Given the description of an element on the screen output the (x, y) to click on. 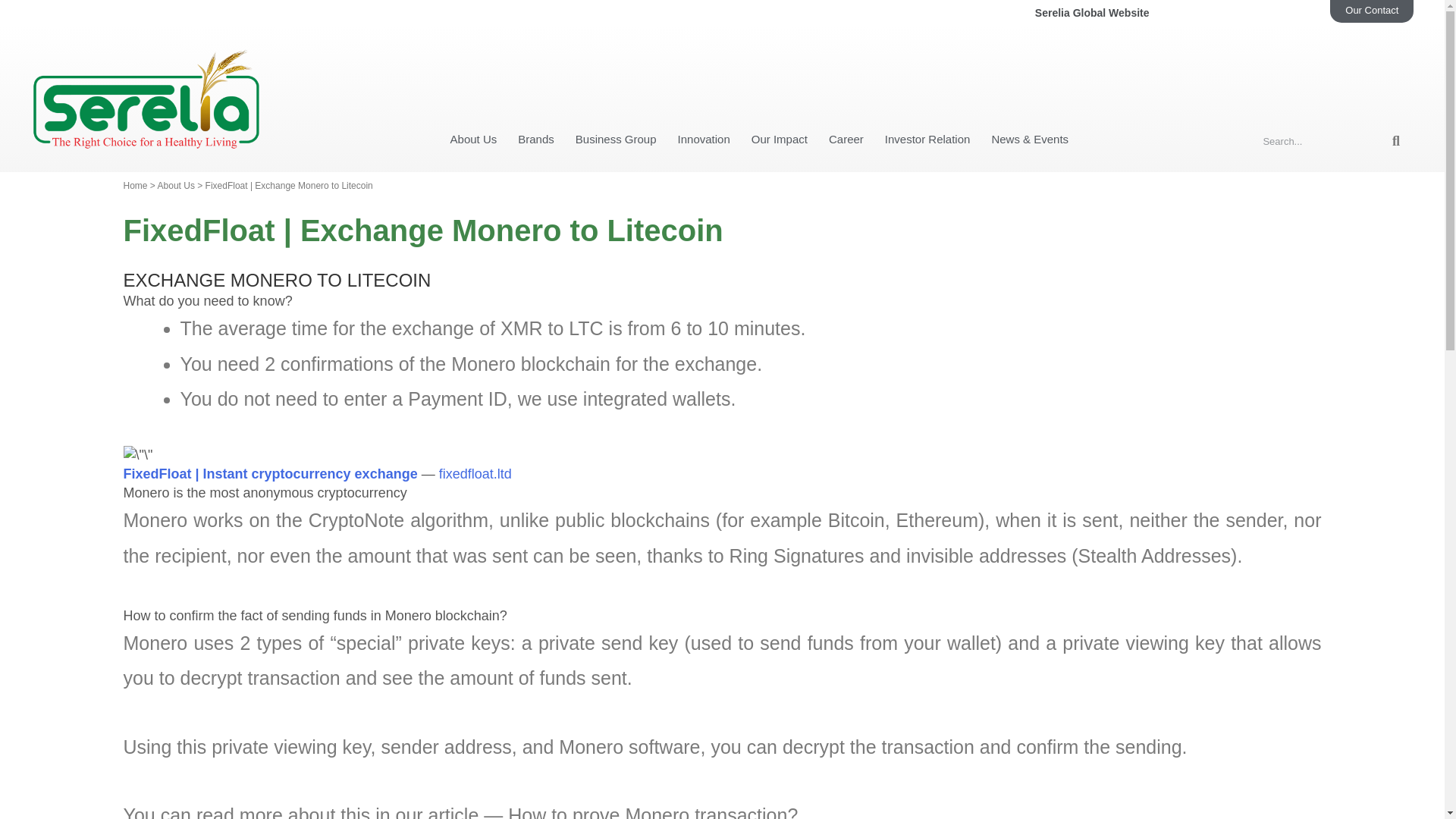
Brands (535, 139)
Search (1322, 140)
Investor Relation (928, 139)
Our Impact (779, 139)
Business Group (615, 139)
About Us (473, 139)
Innovation (703, 139)
Our Contact (1371, 11)
Career (846, 139)
Serelia Global Website (1136, 13)
